Given the description of an element on the screen output the (x, y) to click on. 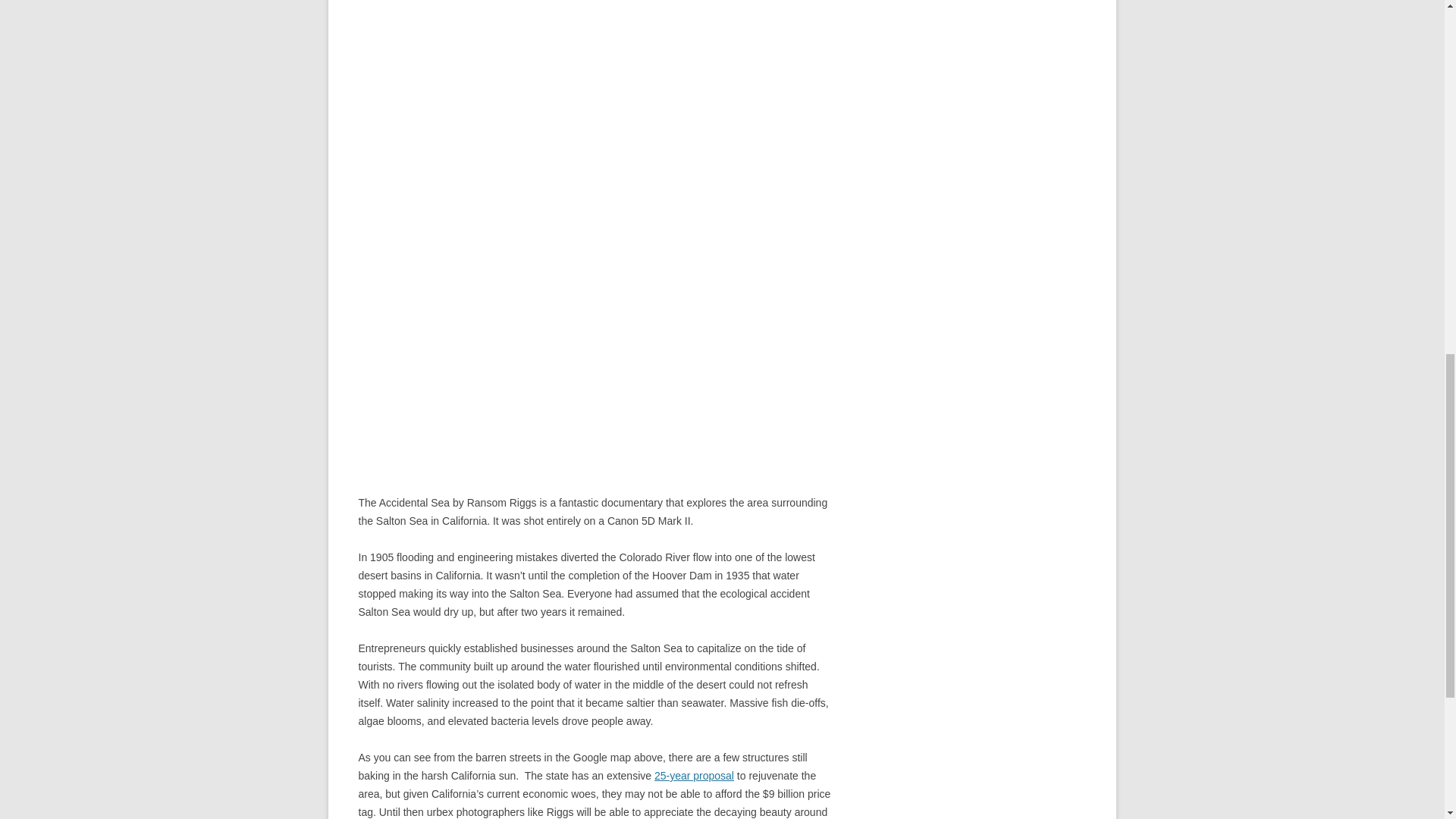
25-year proposal (693, 775)
Salton Sea (693, 775)
